Given the description of an element on the screen output the (x, y) to click on. 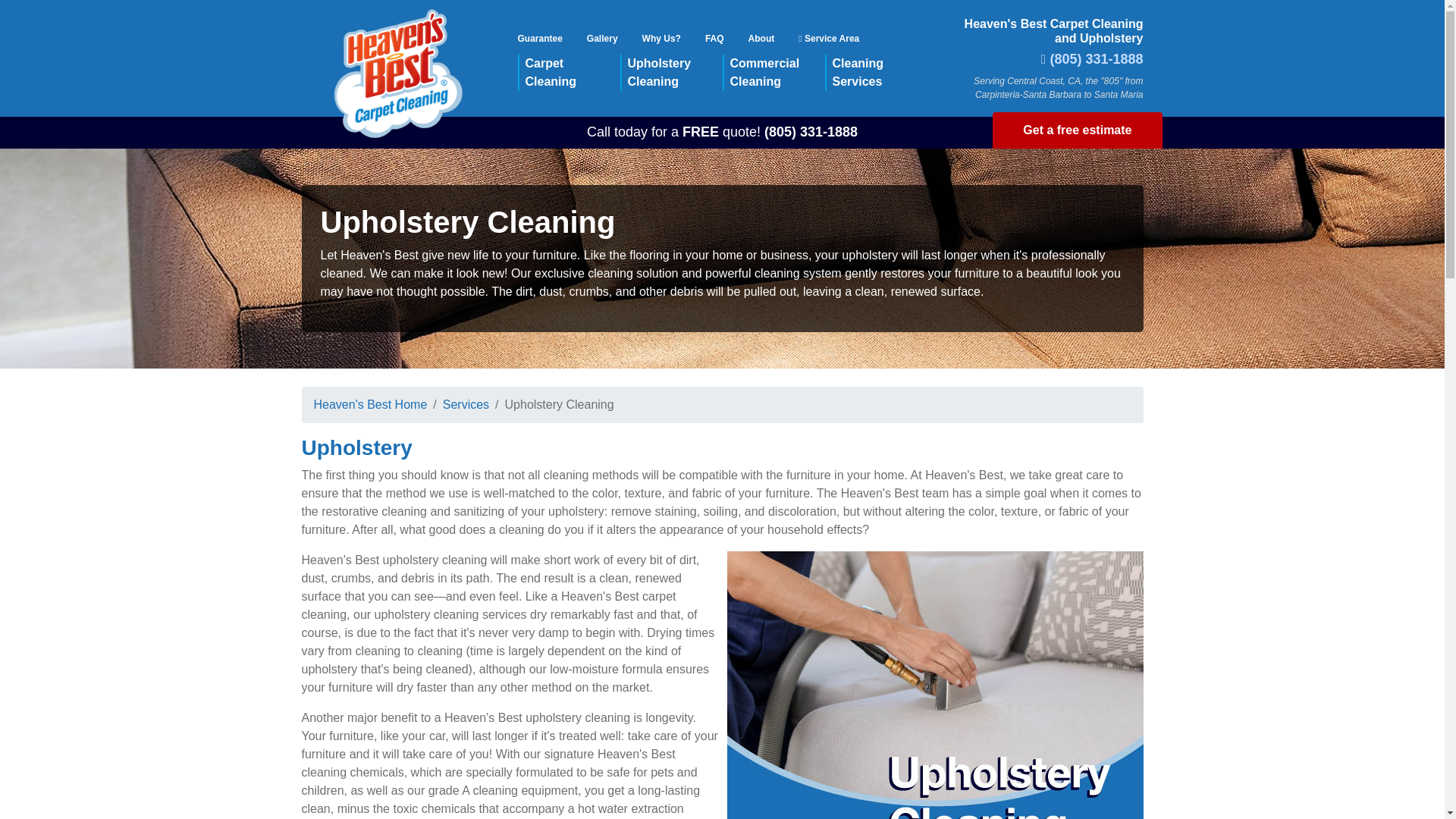
Gallery (602, 38)
Heaven's Best Home (877, 72)
Services (371, 404)
Why Us? (465, 404)
About (671, 72)
FAQ (661, 38)
Heaven's Best Carpet Cleaning (761, 38)
Service Area (569, 72)
Guarantee (773, 72)
